Given the description of an element on the screen output the (x, y) to click on. 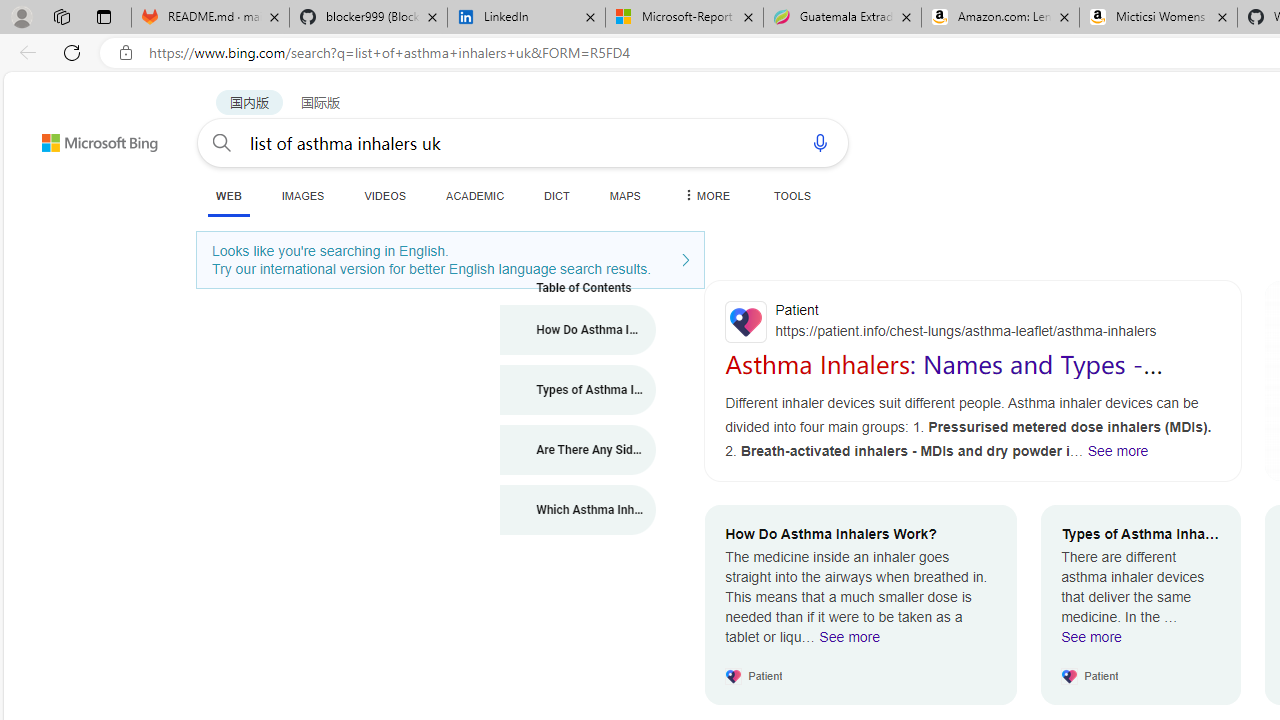
TOOLS (792, 195)
ACADEMIC (475, 195)
Search using voice (820, 142)
How Do Asthma Inhalers Work? (578, 329)
Types of Asthma Inhalers (578, 389)
Search button (221, 142)
